Given the description of an element on the screen output the (x, y) to click on. 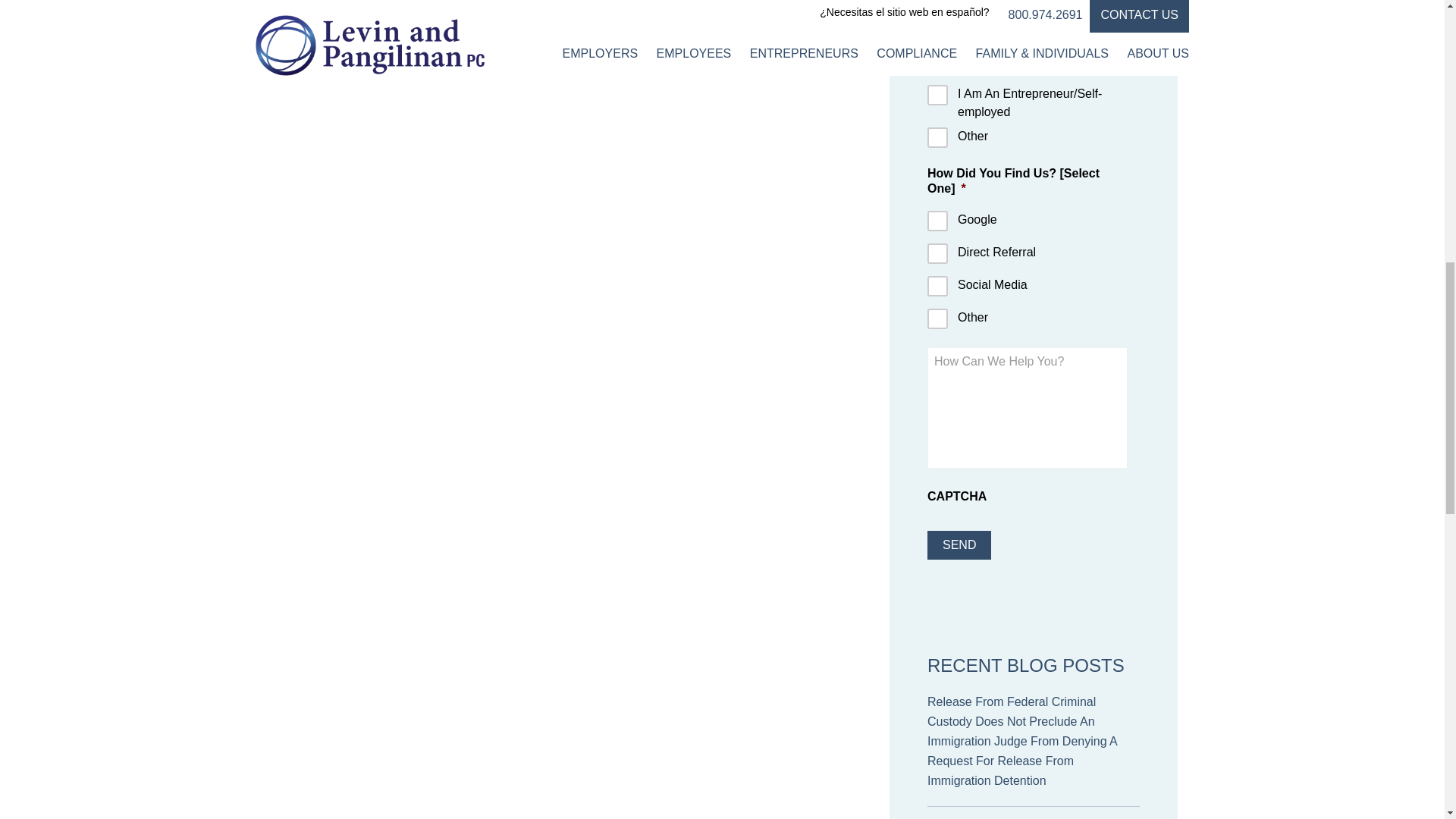
Send (959, 544)
